Given the description of an element on the screen output the (x, y) to click on. 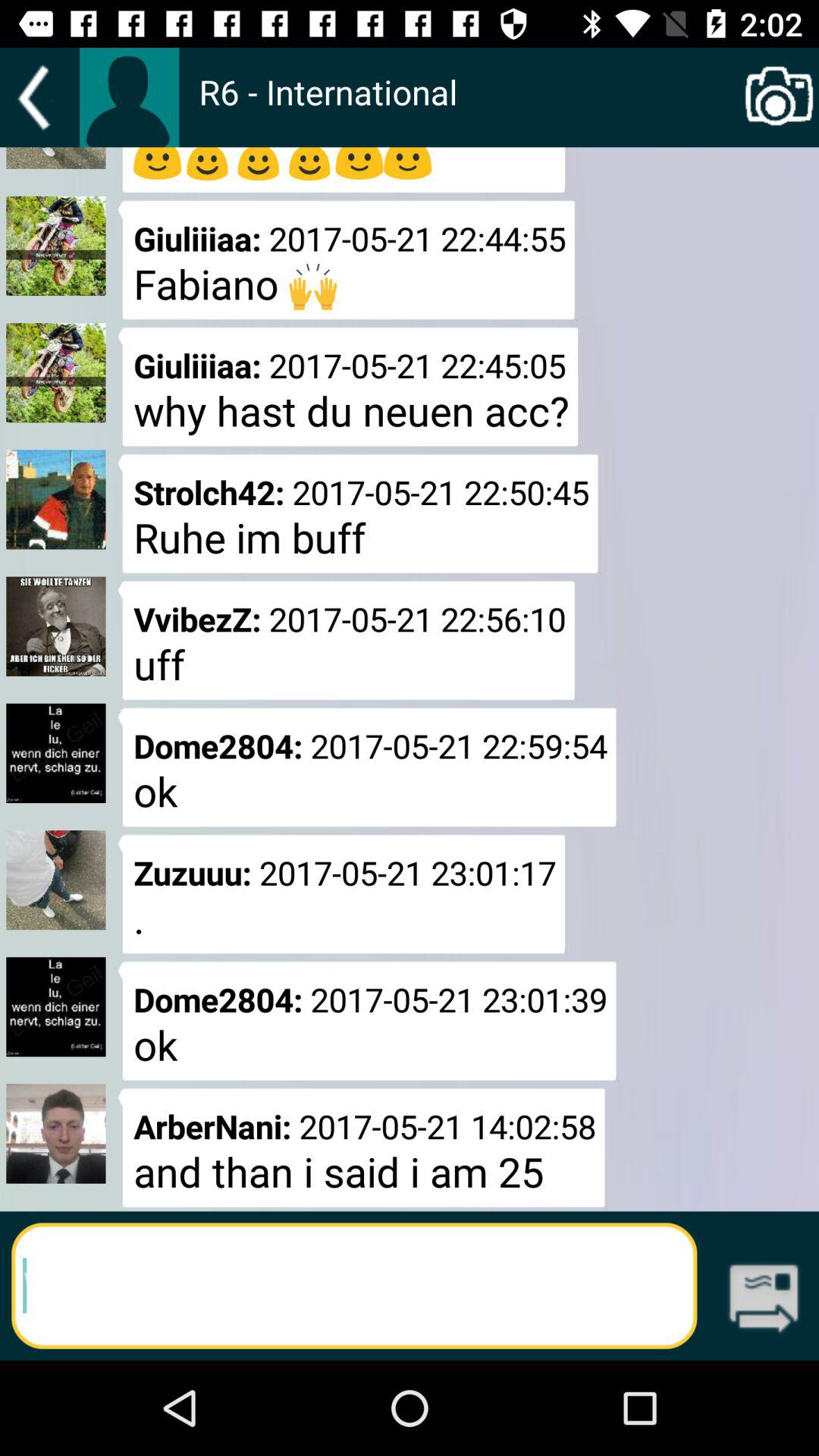
flip until the r6 - international icon (469, 107)
